Given the description of an element on the screen output the (x, y) to click on. 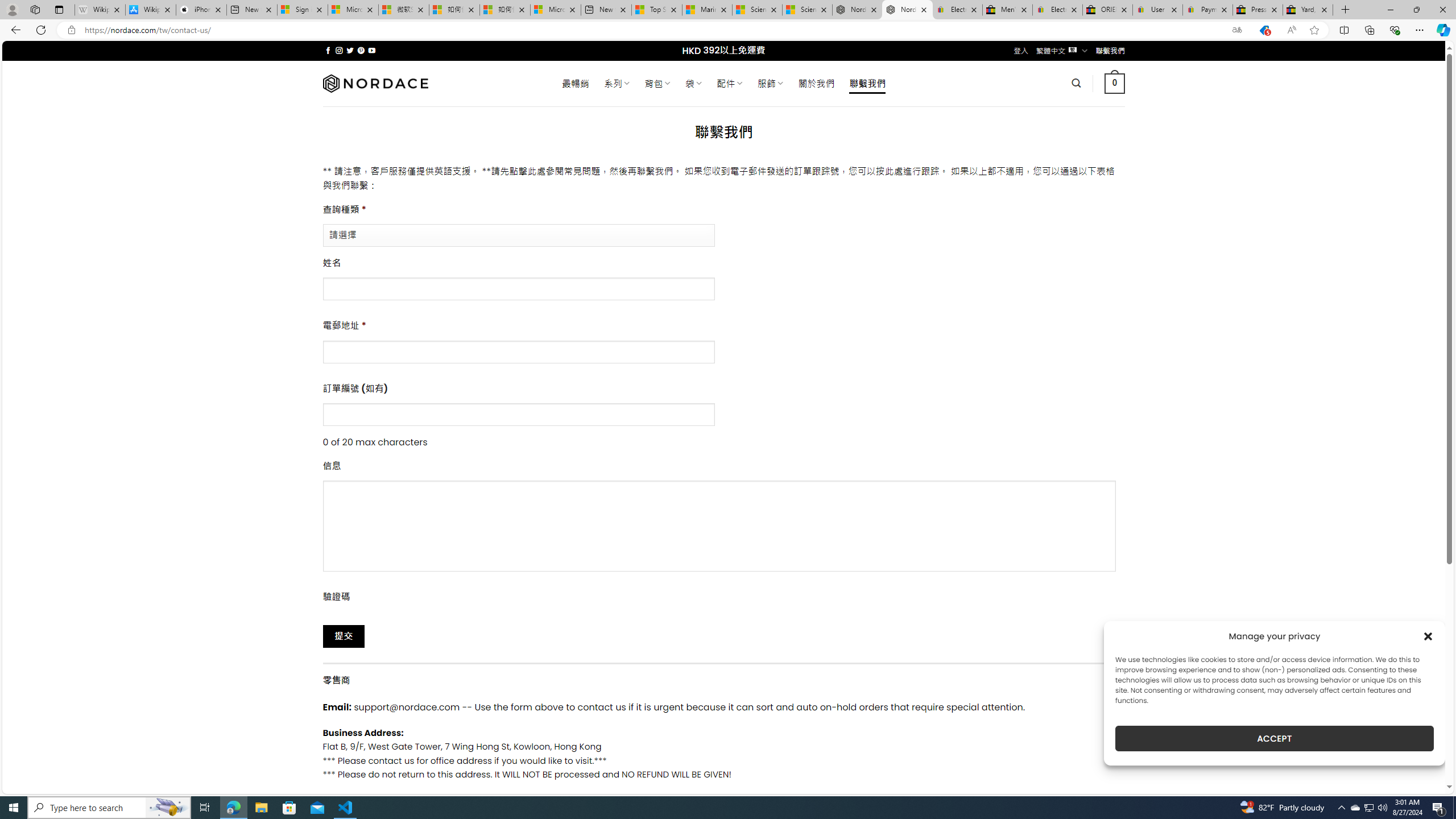
ACCEPT (1274, 738)
